Given the description of an element on the screen output the (x, y) to click on. 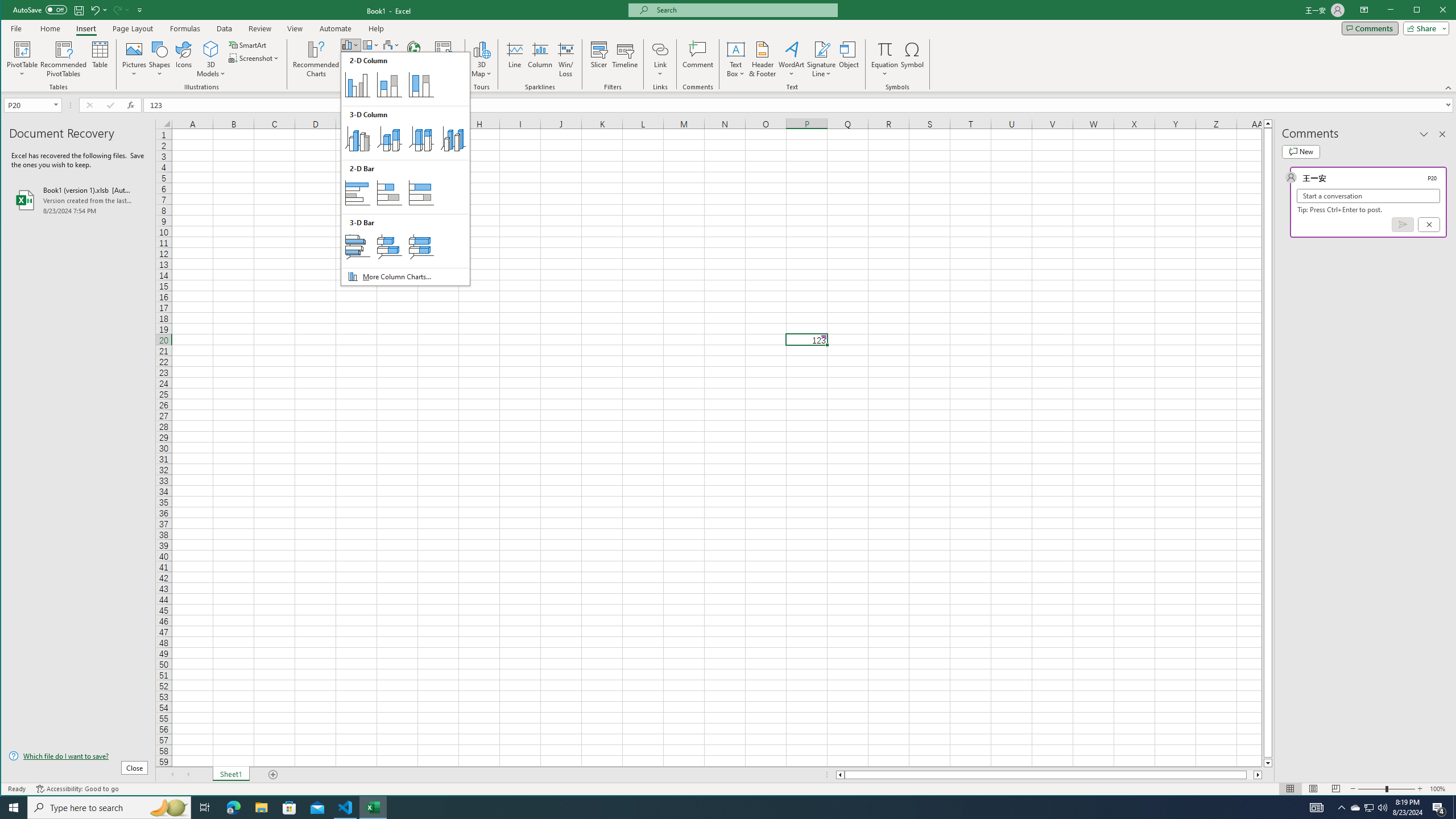
Link (659, 48)
System (11, 10)
Icons (183, 59)
Post comment (Ctrl + Enter) (1402, 224)
&Insert Column or Bar Chart (405, 168)
Object... (848, 59)
Zoom (1386, 788)
Page Layout (1312, 788)
PivotTable (22, 48)
Normal (1290, 788)
Excel - 1 running window (373, 807)
Slicer... (598, 59)
Start a conversation (1368, 195)
Help (376, 28)
Q2790: 100% (1382, 807)
